Given the description of an element on the screen output the (x, y) to click on. 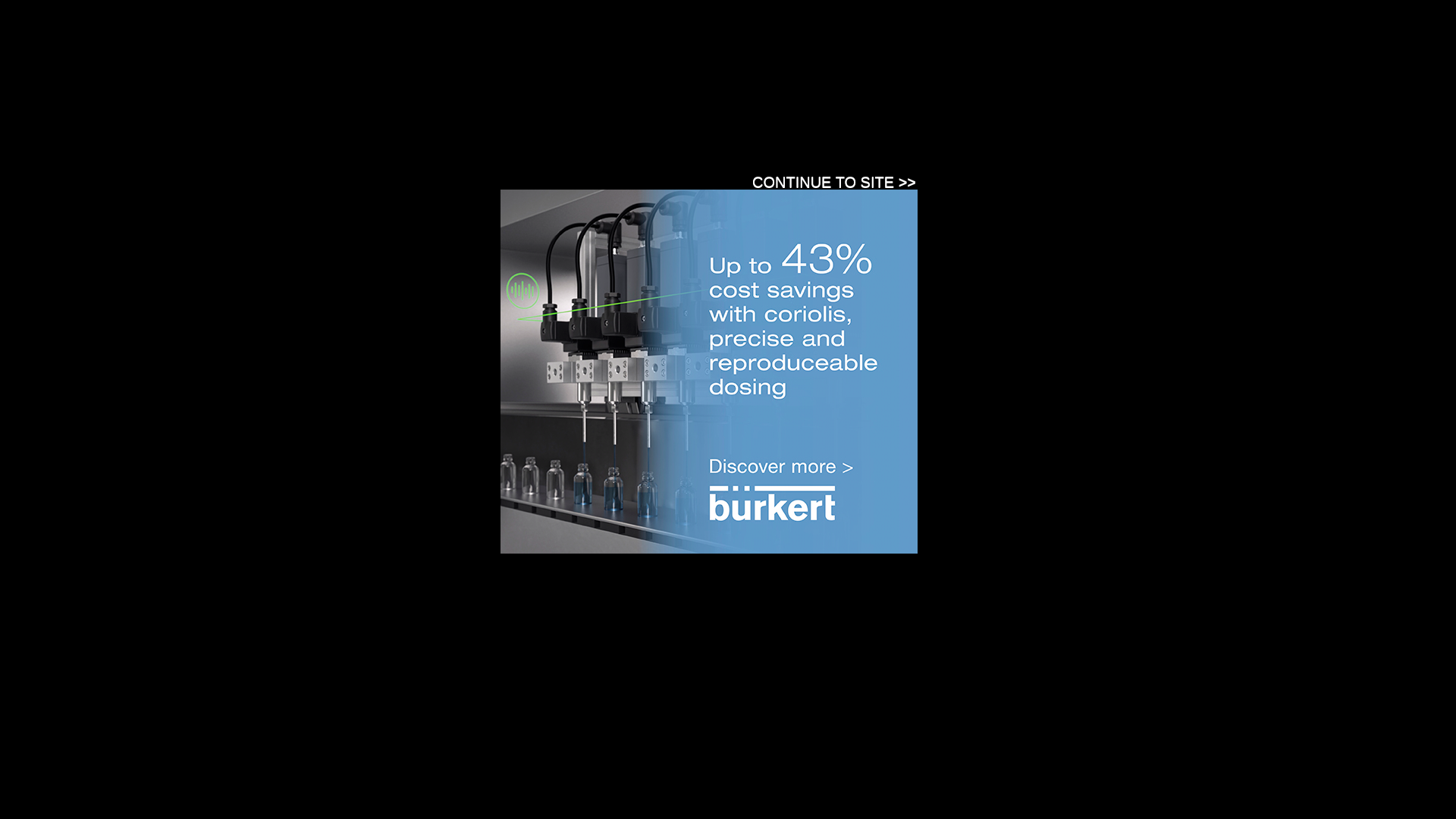
LabOnline Element type: hover (409, 64)
&#39;The Dish&#39; set to support more Moon landings Element type: hover (724, 515)
About Us Element type: text (635, 200)
3rd party ad content Element type: hover (1025, 716)
Products Element type: text (519, 200)
The Magazine Element type: text (336, 200)
R & D Element type: text (671, 151)
CONTINUE TO SITE >> Element type: text (834, 181)
Intuitive Machines Element type: text (427, 417)
Computing Element type: text (522, 151)
Business Element type: text (739, 151)
NASA Element type: text (542, 443)
Featured Articles Element type: text (1034, 275)
Equipment Element type: text (441, 151)
Instrumentation Element type: text (347, 151)
3rd party ad content Element type: hover (495, 238)
Commercial Lunar Payload Services Element type: text (405, 461)
Lab fit-out Element type: text (603, 151)
Events Element type: text (402, 200)
CSIRO Element type: text (326, 391)
Resources Element type: text (459, 200)
3rd party ad content Element type: hover (842, 49)
Directory Element type: text (577, 200)
Subscribe eNewsletter Element type: text (1089, 198)
3rd party ad content Element type: hover (212, 449)
3rd party ad content Element type: hover (708, 371)
Life Scientist Element type: text (702, 200)
3rd party ad content Element type: hover (1242, 449)
